Given the description of an element on the screen output the (x, y) to click on. 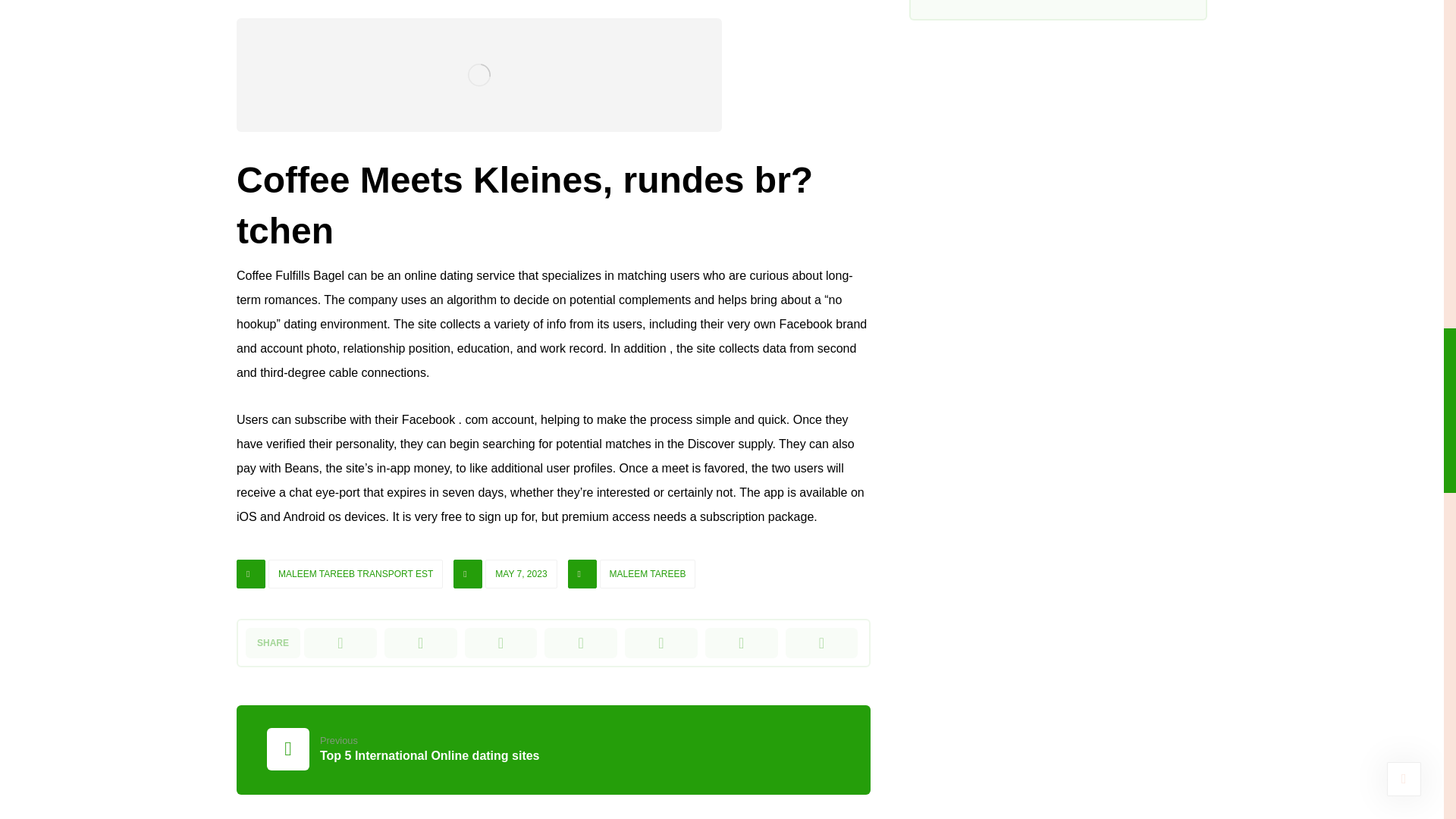
MAY 7, 2023 (520, 573)
MALEEM TAREEB (647, 573)
icon (403, 748)
icon (581, 573)
icon (249, 573)
MALEEM TAREEB TRANSPORT EST (466, 573)
